Given the description of an element on the screen output the (x, y) to click on. 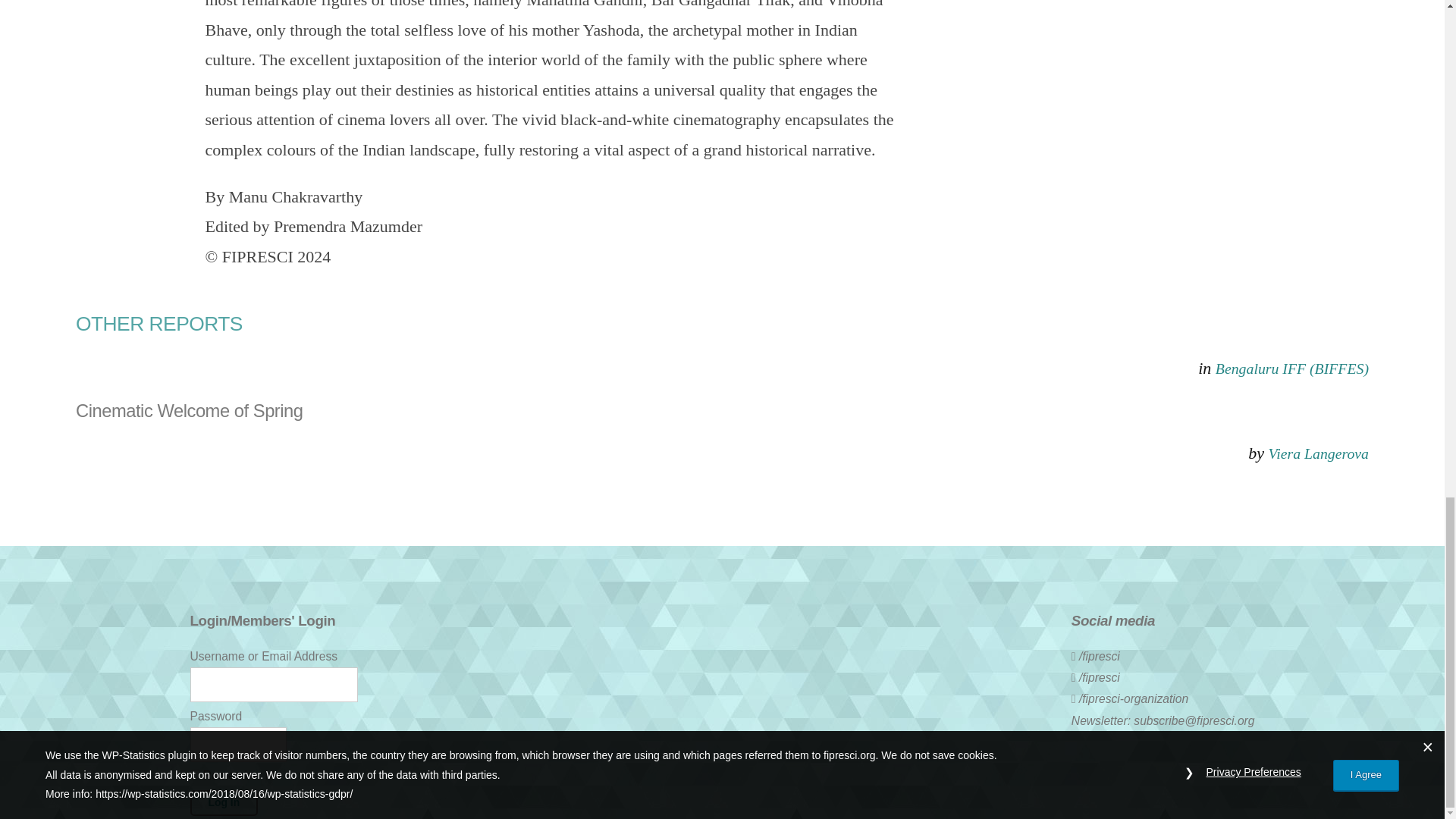
Cinematic Welcome of Spring (721, 411)
Log In (223, 802)
forever (194, 774)
Viera Langerova (1318, 453)
Log In (223, 802)
